Given the description of an element on the screen output the (x, y) to click on. 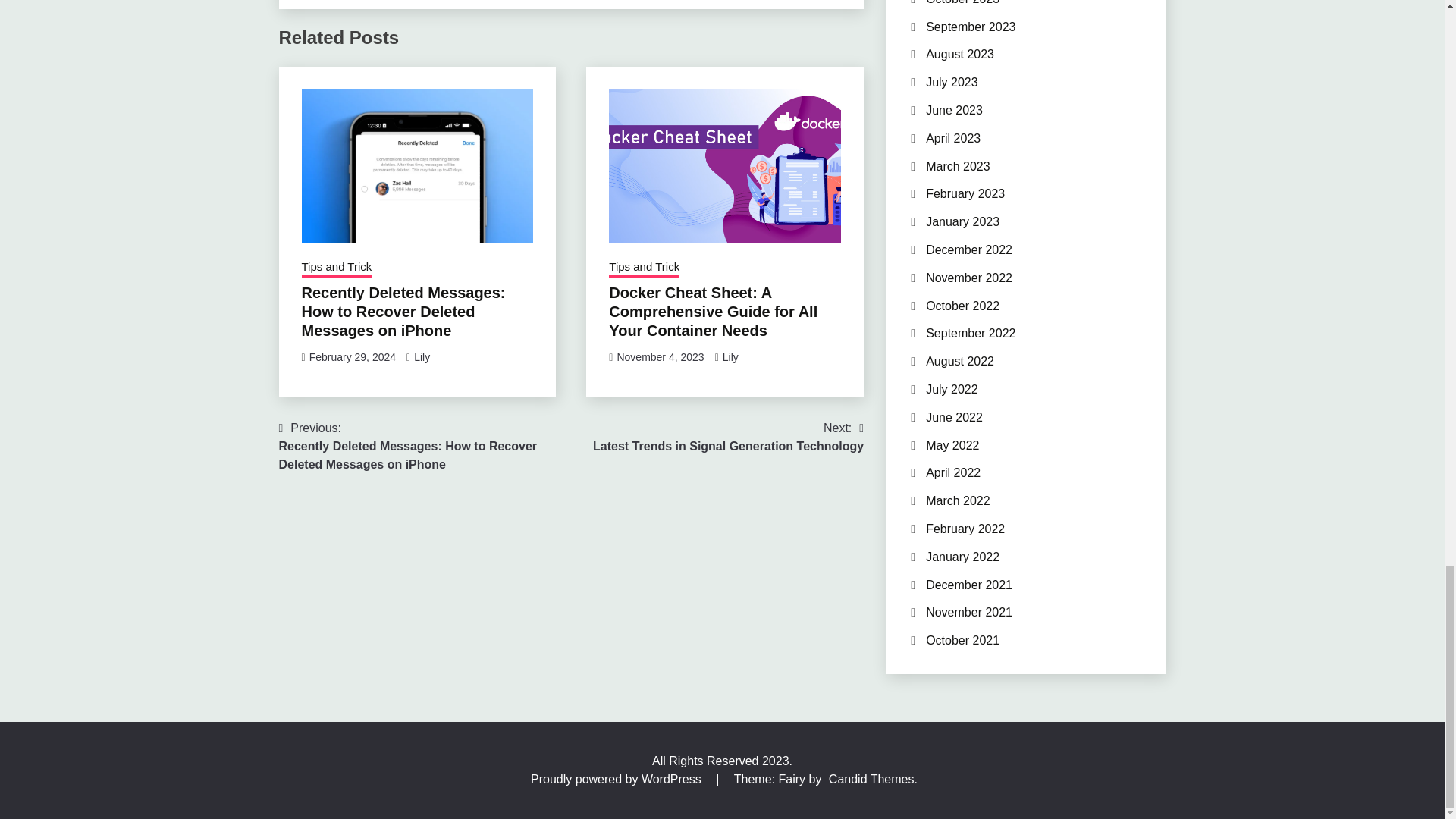
February 29, 2024 (727, 437)
Tips and Trick (352, 357)
Lily (643, 268)
Lily (421, 357)
Tips and Trick (730, 357)
November 4, 2023 (336, 268)
